Given the description of an element on the screen output the (x, y) to click on. 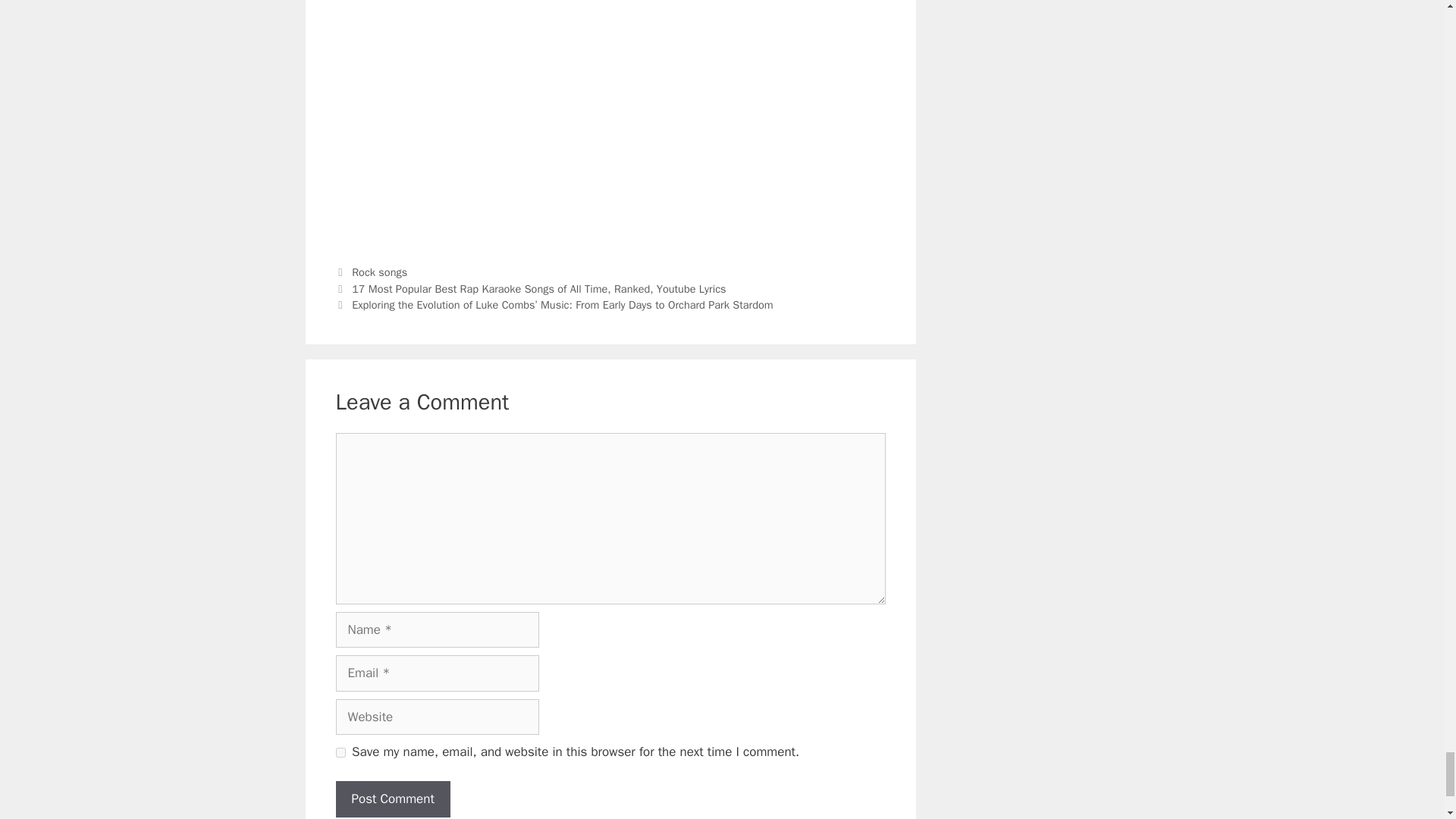
yes (339, 752)
Post Comment (391, 799)
